Given the description of an element on the screen output the (x, y) to click on. 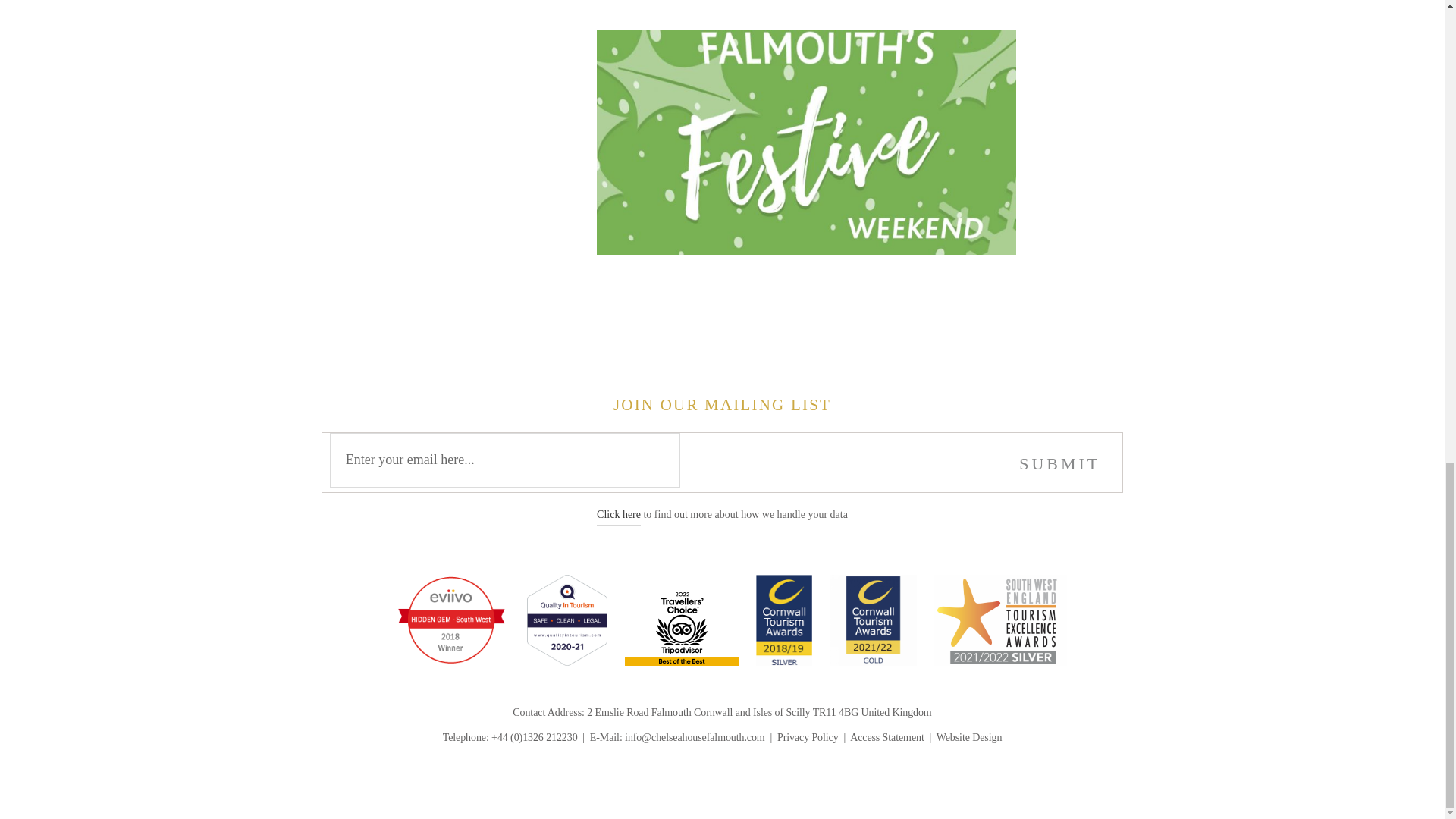
Website Design (969, 737)
Submit (1058, 464)
Access Statement (887, 737)
Click here (618, 514)
Submit (1058, 464)
Address (758, 712)
Privacy Policy (807, 737)
Call Us (535, 737)
Find out more (618, 514)
